Given the description of an element on the screen output the (x, y) to click on. 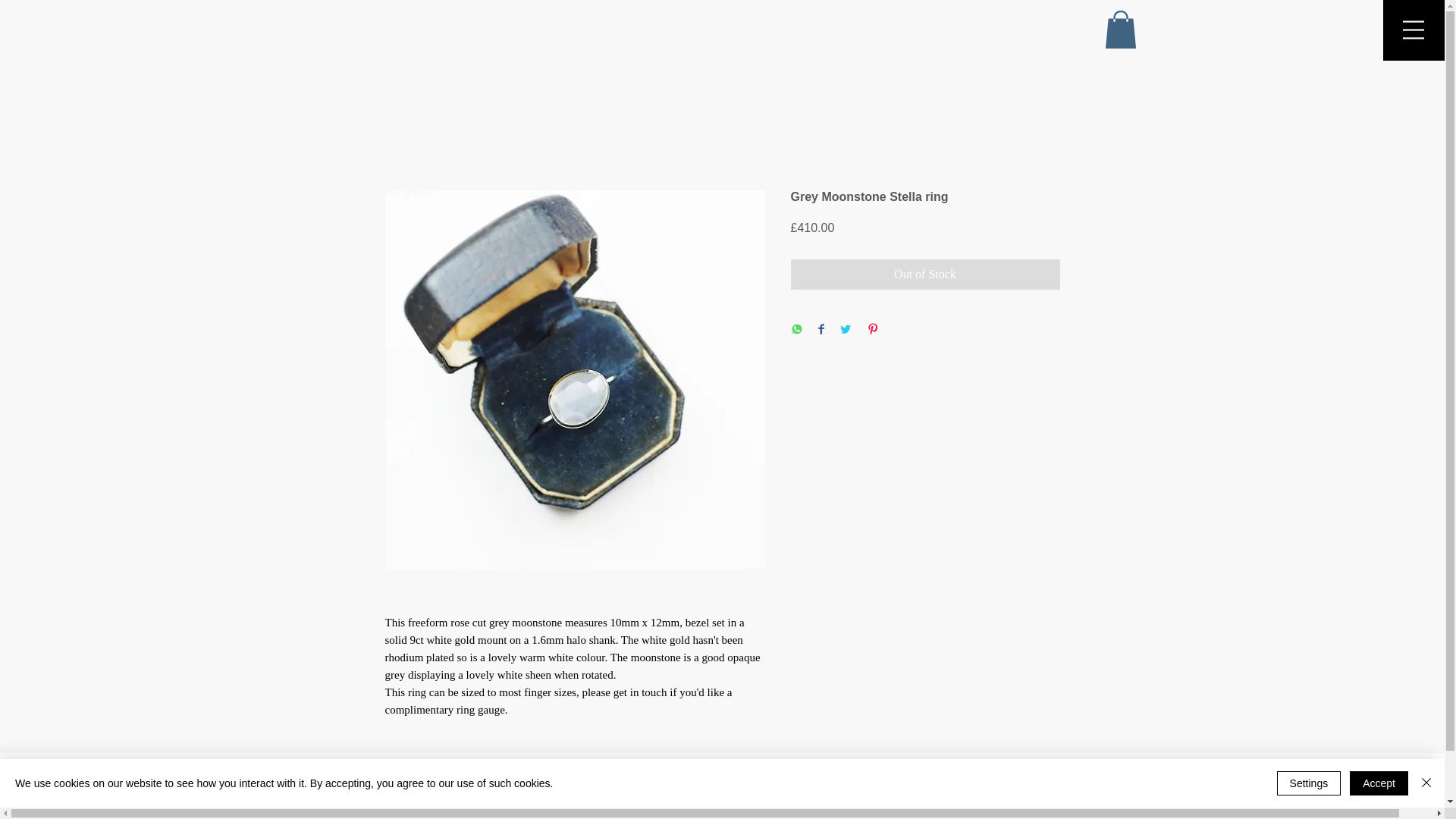
Settings (1308, 783)
Accept (1378, 783)
Out of Stock (924, 274)
